Given the description of an element on the screen output the (x, y) to click on. 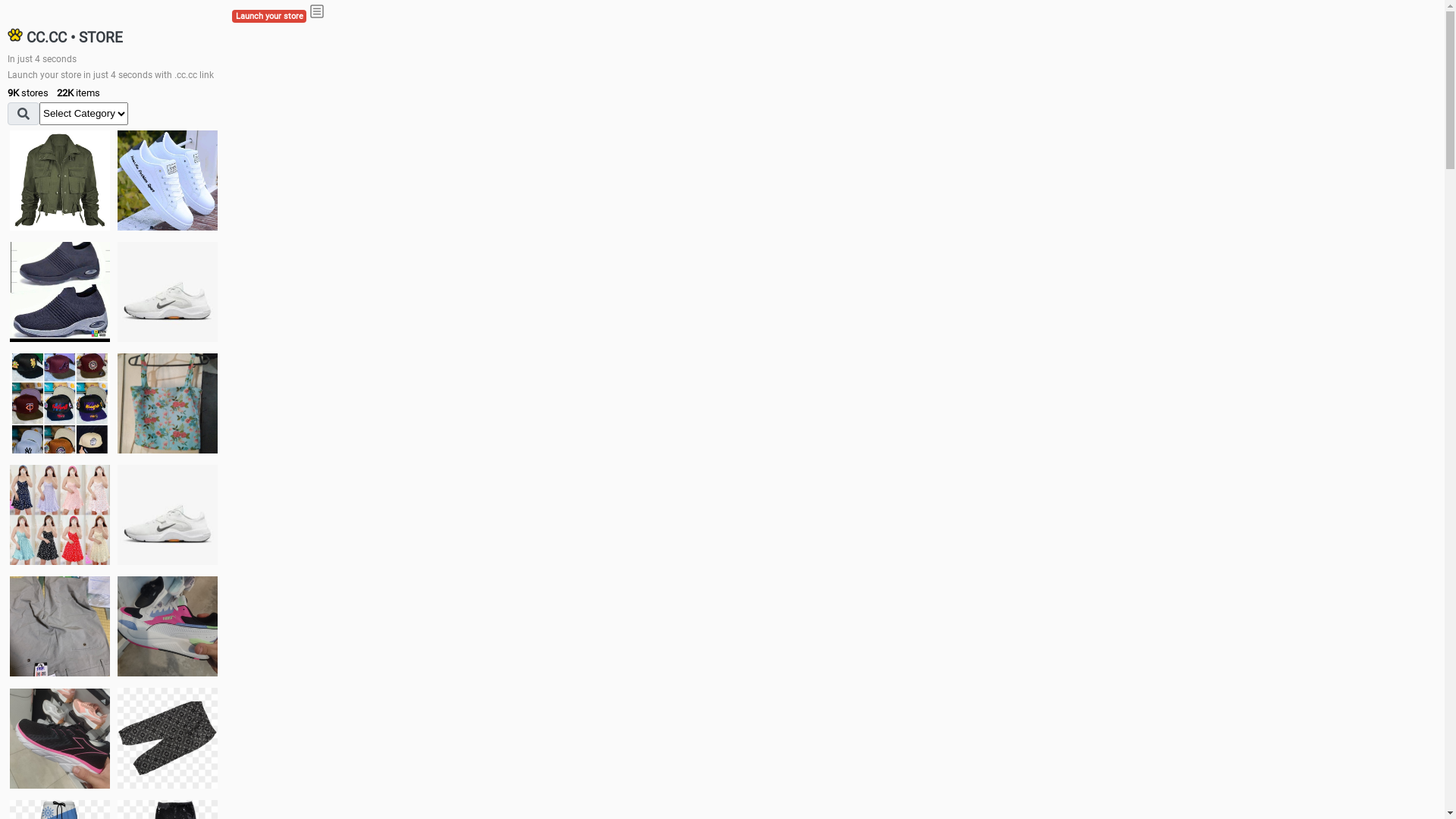
Zapatillas Element type: hover (59, 738)
Launch your store Element type: text (269, 15)
Zapatillas pumas Element type: hover (167, 626)
Short pant Element type: hover (167, 737)
Ukay cloth Element type: hover (167, 403)
shoes for boys Element type: hover (59, 291)
Shoes Element type: hover (167, 514)
jacket Element type: hover (59, 180)
Shoes for boys Element type: hover (167, 291)
Dress/square nect top Element type: hover (59, 514)
Things we need Element type: hover (59, 403)
white shoes Element type: hover (167, 180)
